Given the description of an element on the screen output the (x, y) to click on. 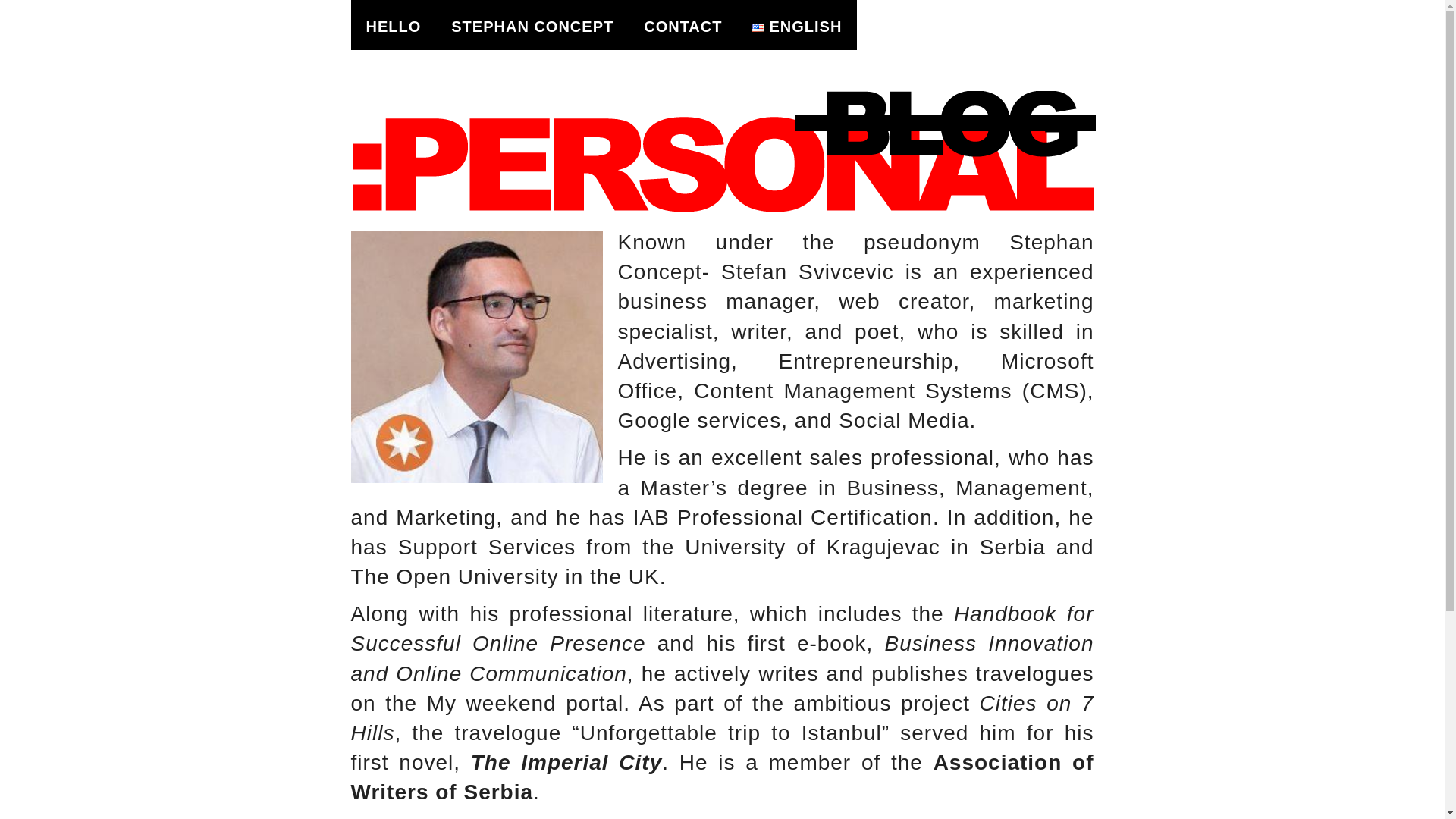
ENGLISH (796, 24)
STEPHAN CONCEPT (531, 24)
HELLO (392, 24)
CONTACT (682, 24)
